Given the description of an element on the screen output the (x, y) to click on. 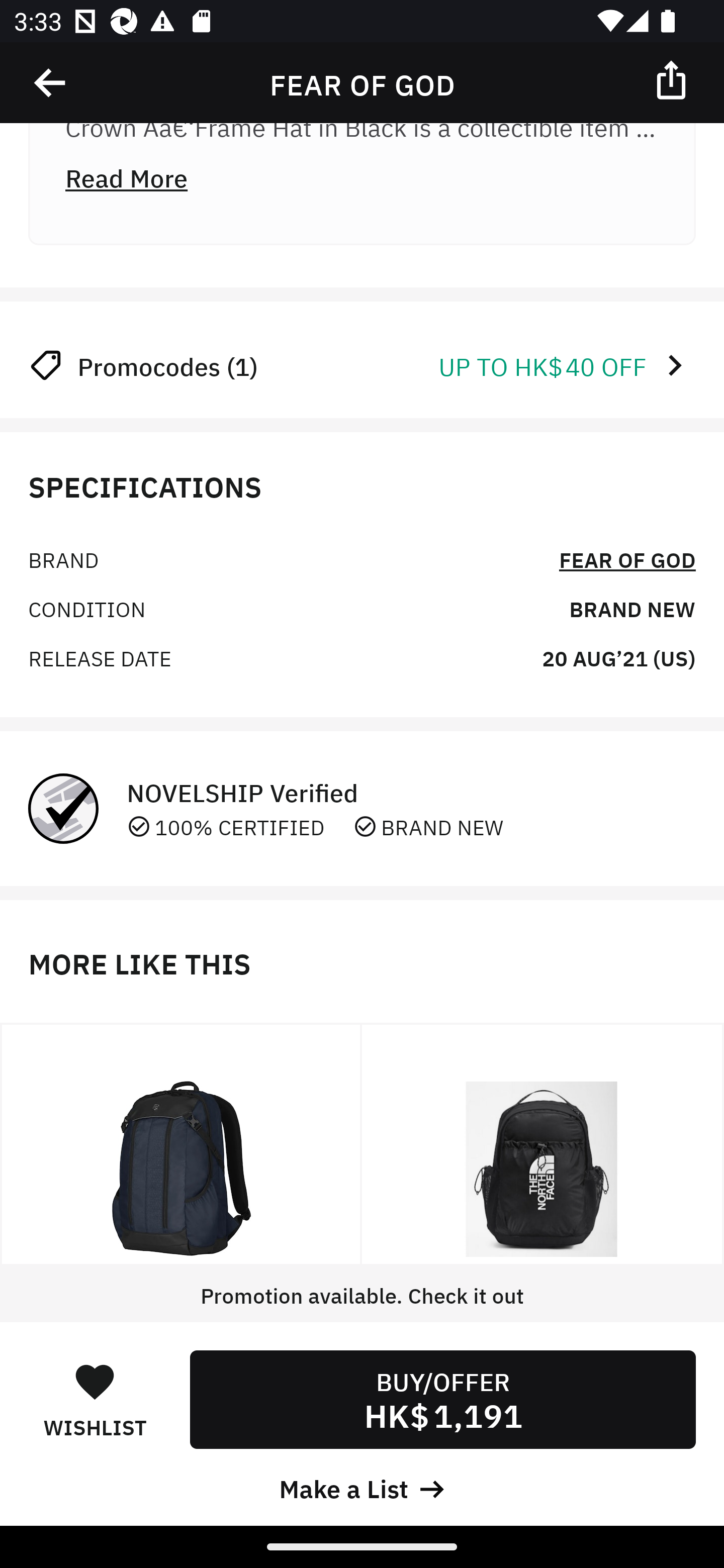
 (50, 83)
 (672, 79)
Promocodes (1) UP TO HK$ 40 OFF  (361, 364)
FEAR OF GOD (626, 558)
BRAND NEW (632, 608)
20 AUG’21 (US) (618, 656)
BUY/OFFER HK$ 1,191 (442, 1399)
󰋑 (94, 1380)
Make a List (361, 1486)
